Given the description of an element on the screen output the (x, y) to click on. 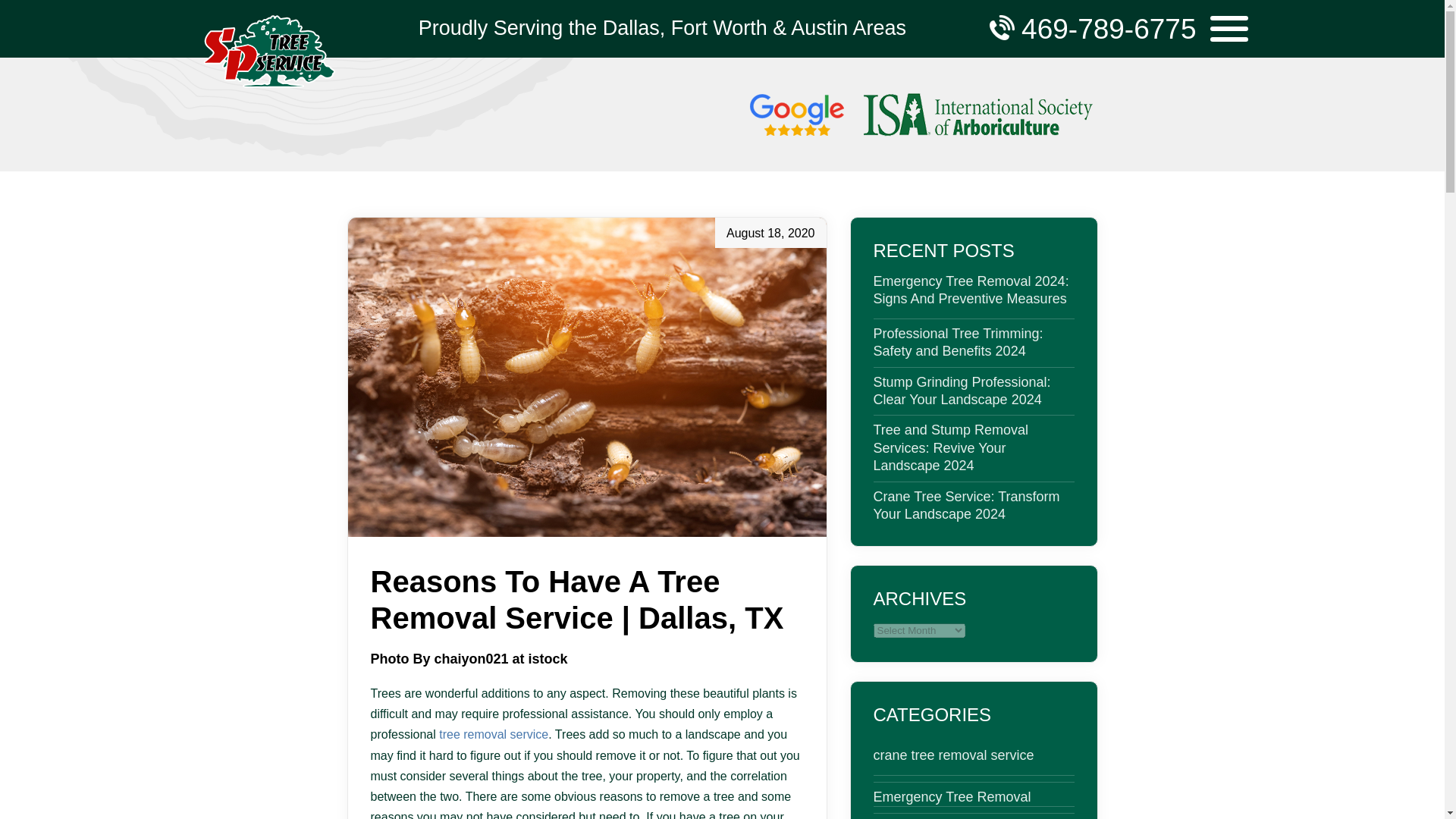
Emergency Tree Removal (973, 796)
469-789-6775 (1115, 36)
Tree and Stump Removal Services: Revive Your Landscape 2024 (973, 448)
Crane Tree Service: Transform Your Landscape 2024 (973, 506)
tree removal service (493, 734)
Emergency Tree Removal 2024: Signs And Preventive Measures (973, 290)
Stump Grinding Professional: Clear Your Landscape 2024 (973, 391)
Professional Tree Trimming: Safety and Benefits 2024 (973, 343)
crane tree removal service (973, 755)
